Given the description of an element on the screen output the (x, y) to click on. 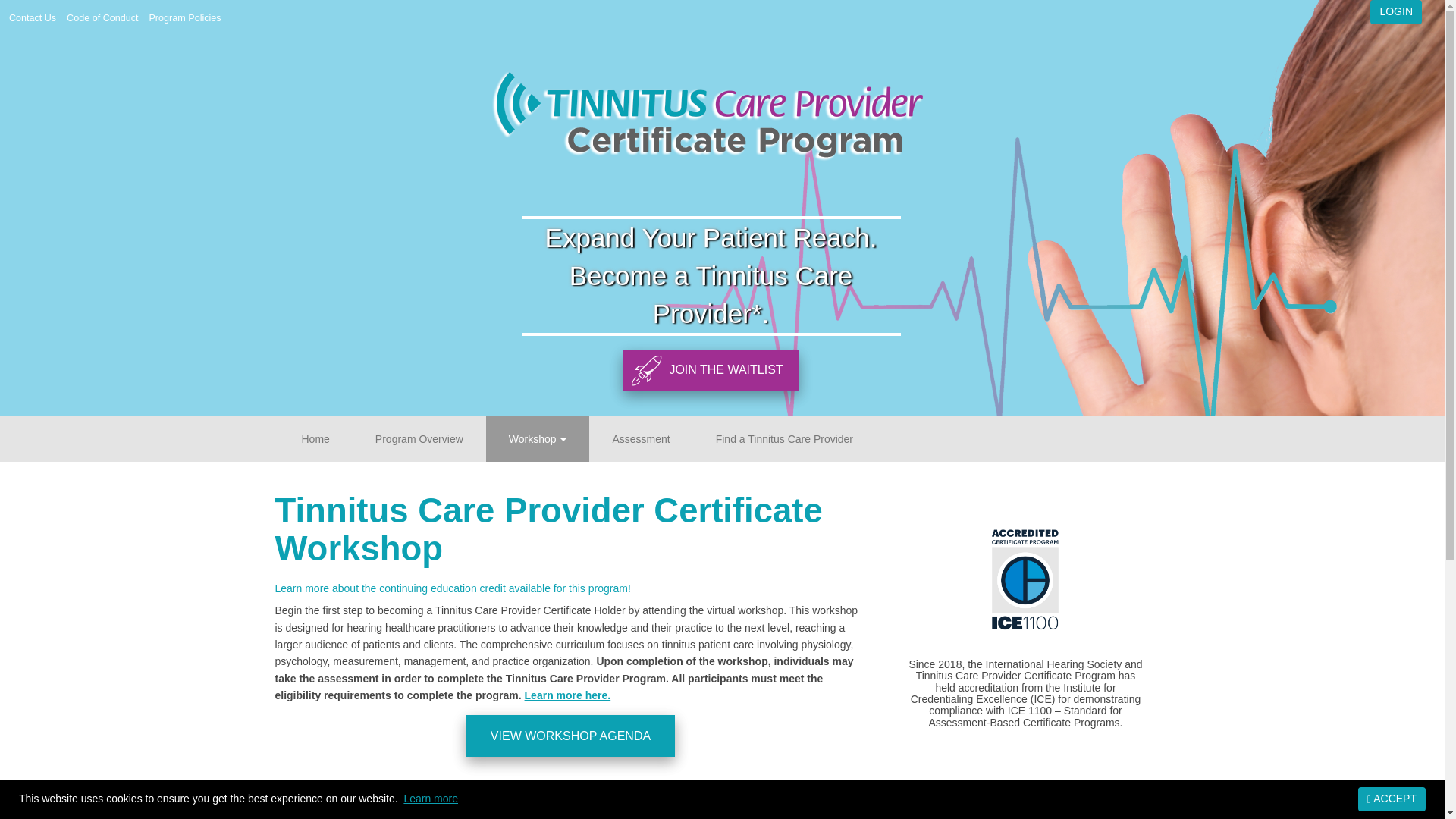
VIEW WORKSHOP AGENDA (570, 735)
Workshop (537, 438)
Program Overview (419, 438)
Home (315, 438)
 ACCEPT (1391, 799)
Contact Us (34, 18)
Program Policies (186, 18)
Learn more (430, 798)
LOGIN (1396, 12)
JOIN THE WAITLIST (710, 370)
Find a Tinnitus Care Provider (784, 438)
Code of Conduct (103, 18)
Assessment (641, 438)
Learn more here. (567, 695)
